Given the description of an element on the screen output the (x, y) to click on. 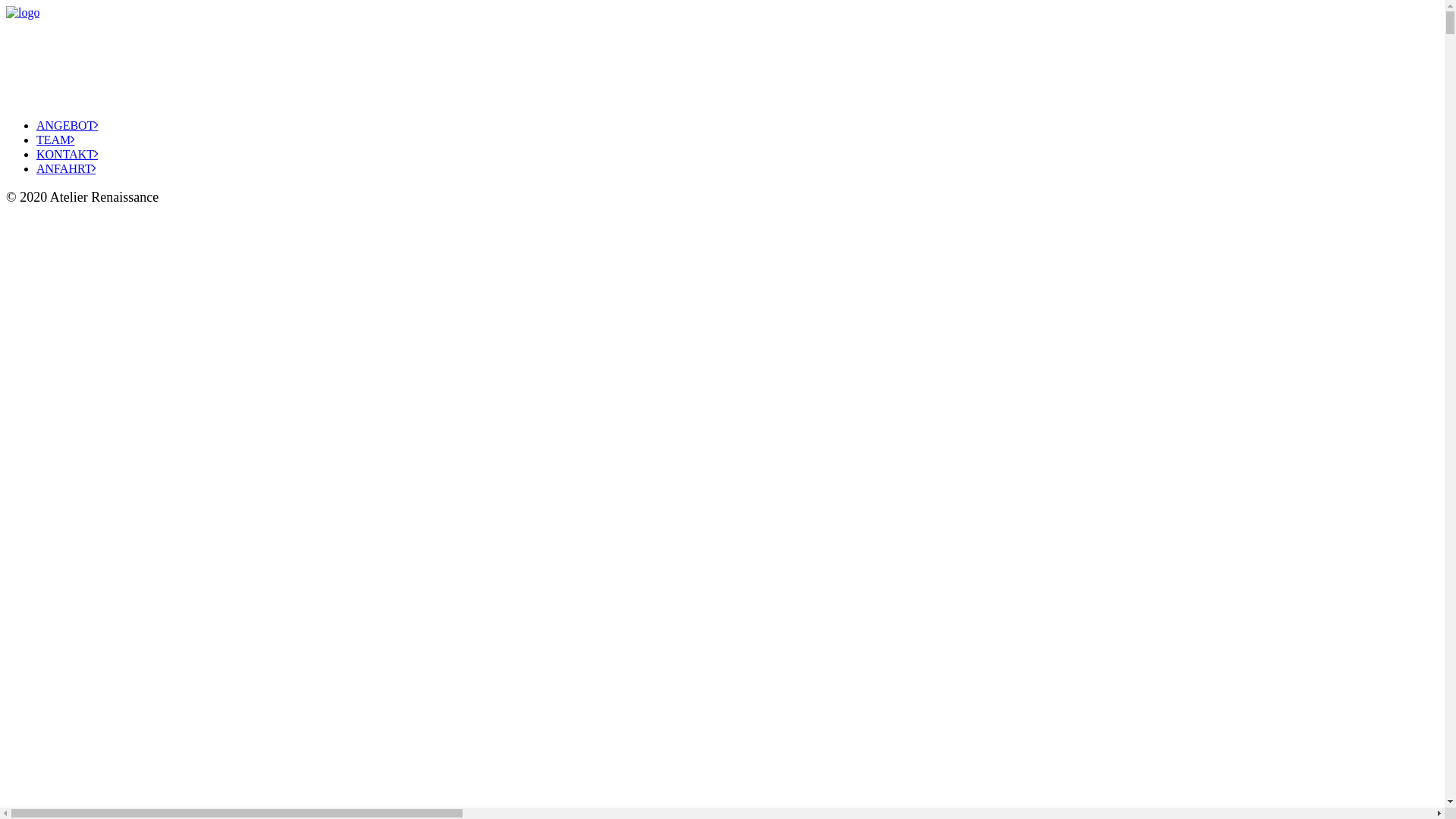
TEAM Element type: text (55, 139)
ANGEBOT Element type: text (66, 125)
KONTAKT Element type: text (66, 153)
ANFAHRT Element type: text (65, 168)
